Given the description of an element on the screen output the (x, y) to click on. 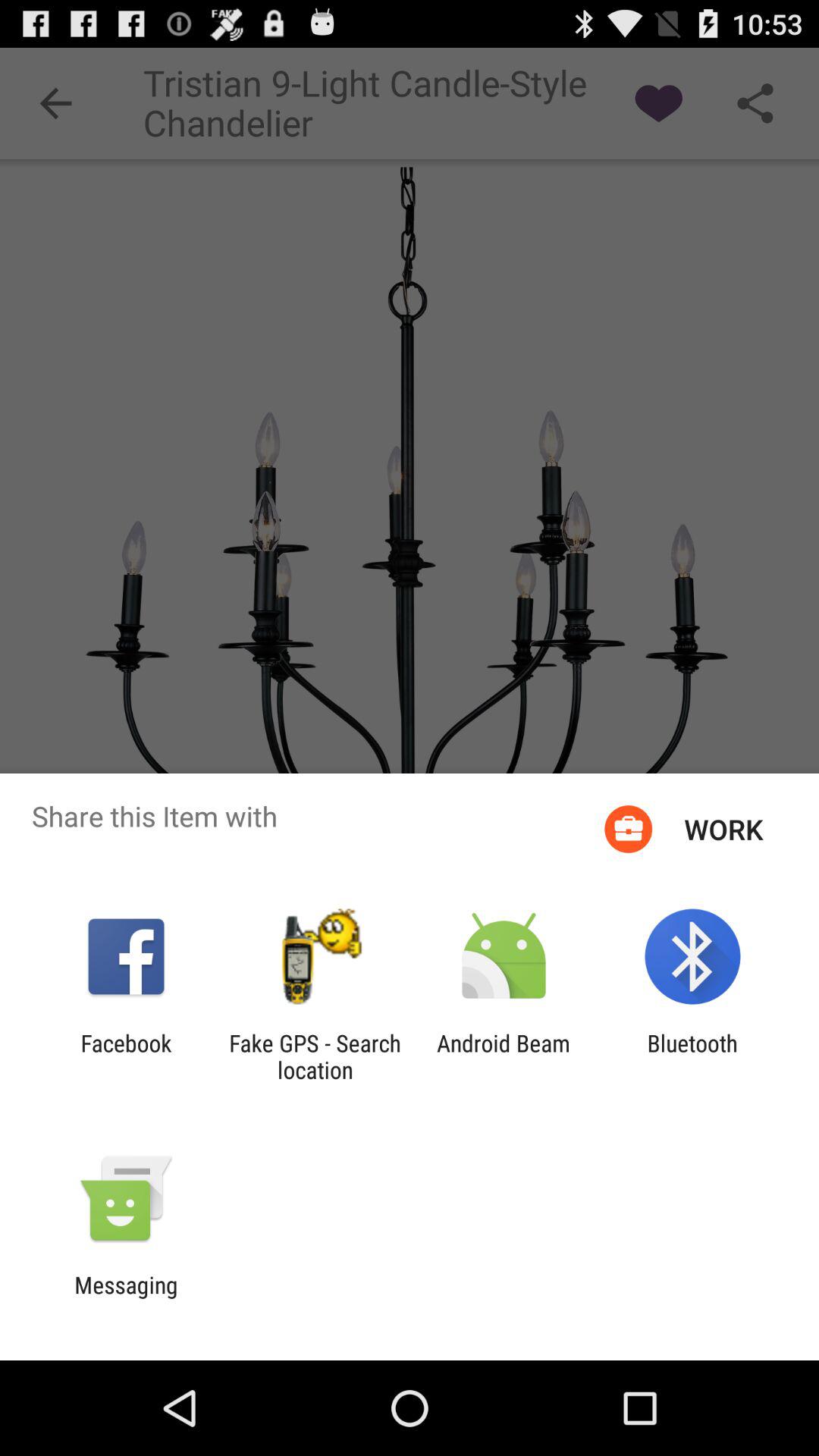
turn on the bluetooth app (692, 1056)
